Given the description of an element on the screen output the (x, y) to click on. 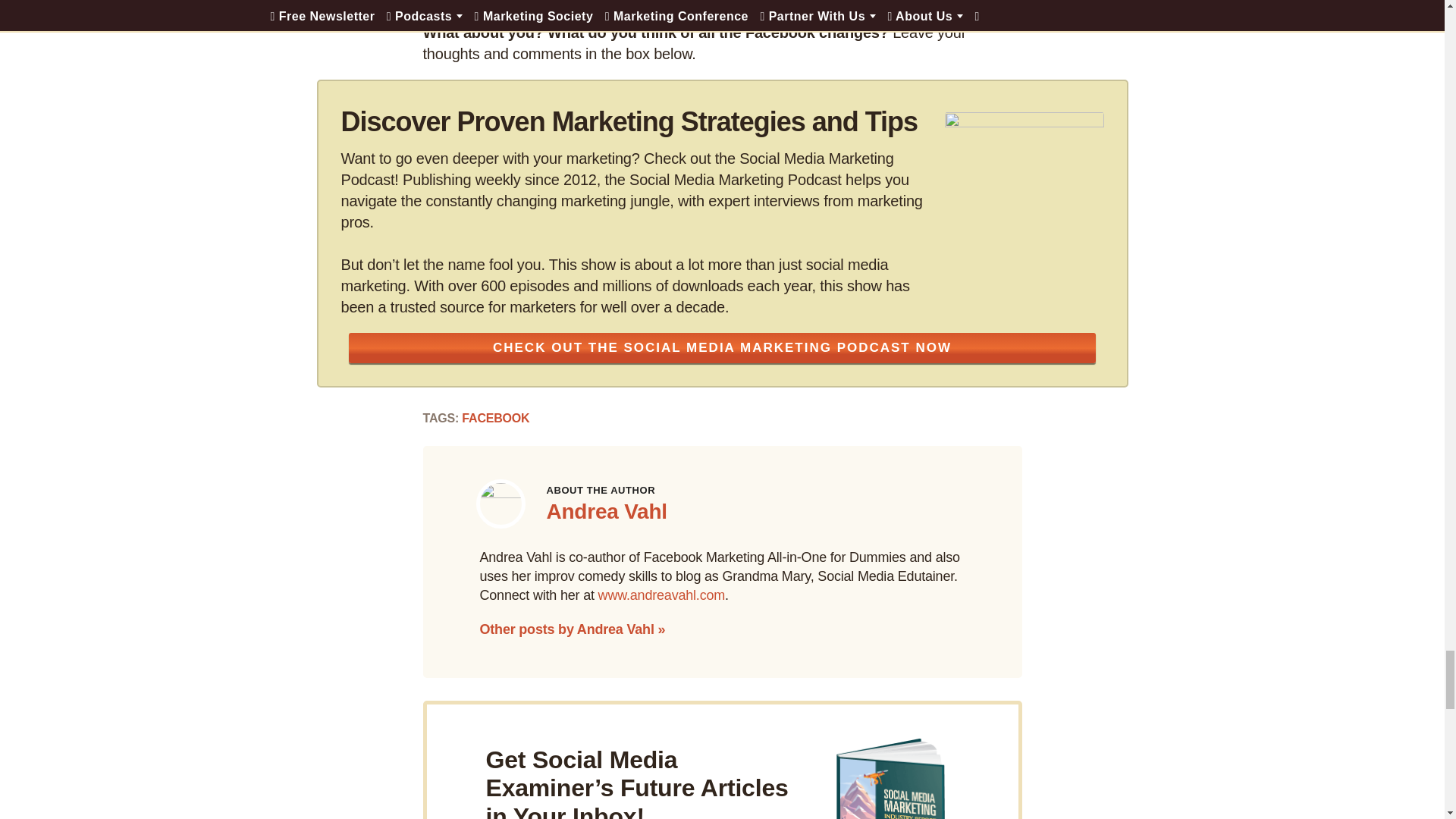
CHECK OUT THE SOCIAL MEDIA MARKETING PODCAST NOW (722, 347)
